Given the description of an element on the screen output the (x, y) to click on. 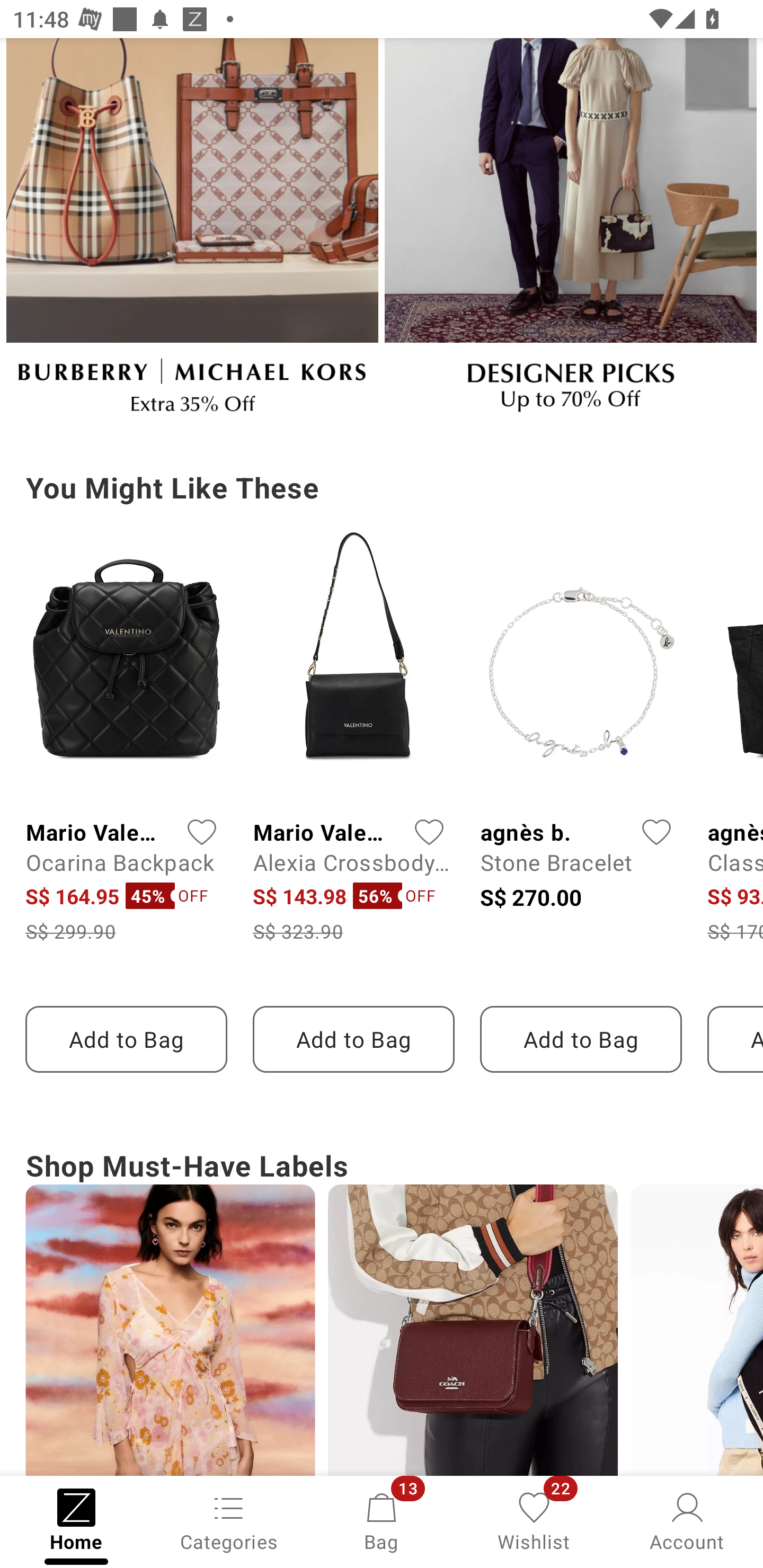
Campaign banner (192, 233)
Campaign banner (570, 233)
Add to Bag (126, 1039)
Add to Bag (353, 1039)
Add to Bag (580, 1039)
Campaign banner (170, 1329)
Campaign banner (473, 1329)
Campaign banner (696, 1329)
Categories (228, 1519)
Bag, 13 new notifications Bag (381, 1519)
Wishlist, 22 new notifications Wishlist (533, 1519)
Account (686, 1519)
